Given the description of an element on the screen output the (x, y) to click on. 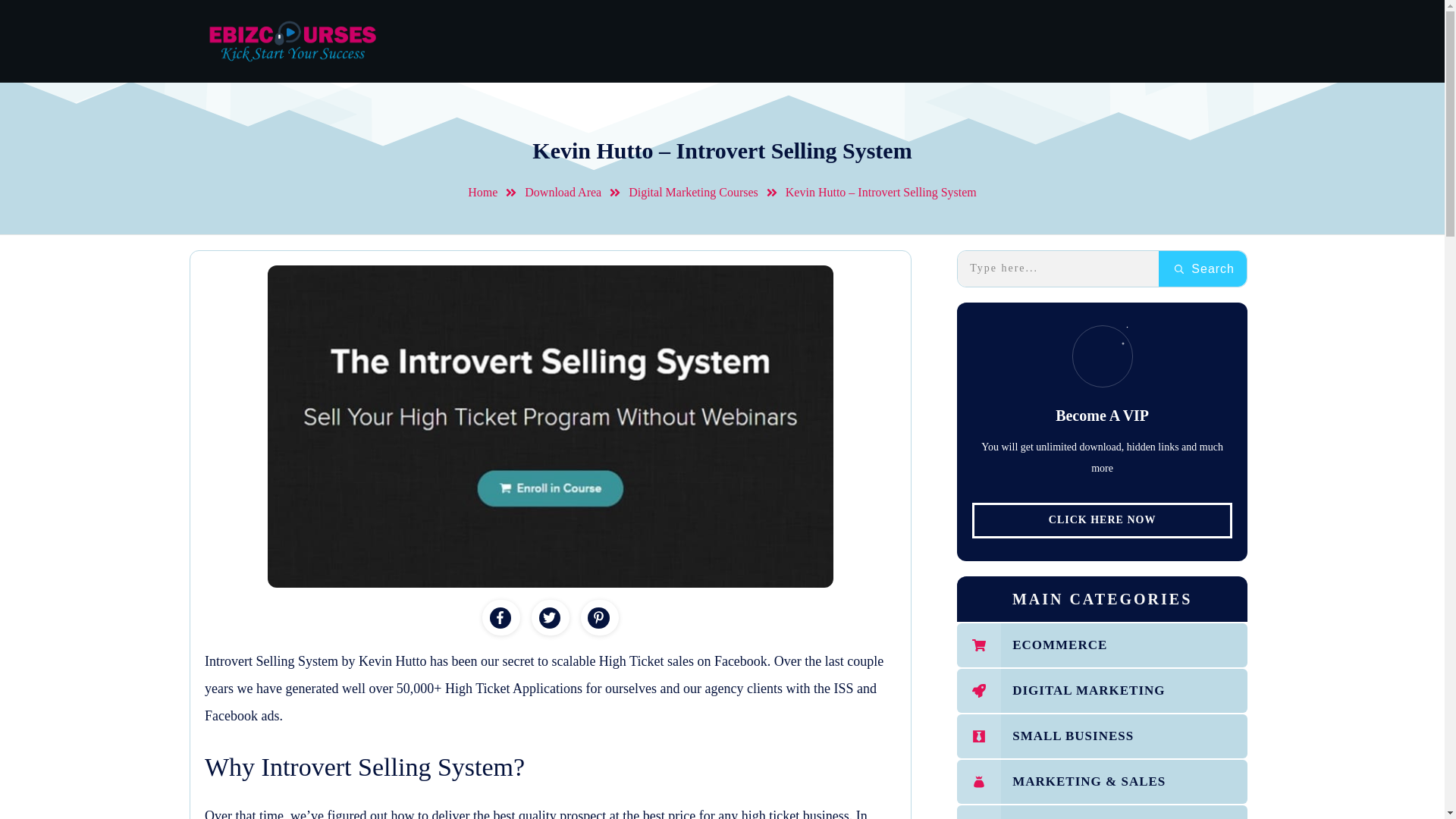
Digital Marketing Courses (693, 192)
Home (482, 192)
Download Area (562, 192)
